Given the description of an element on the screen output the (x, y) to click on. 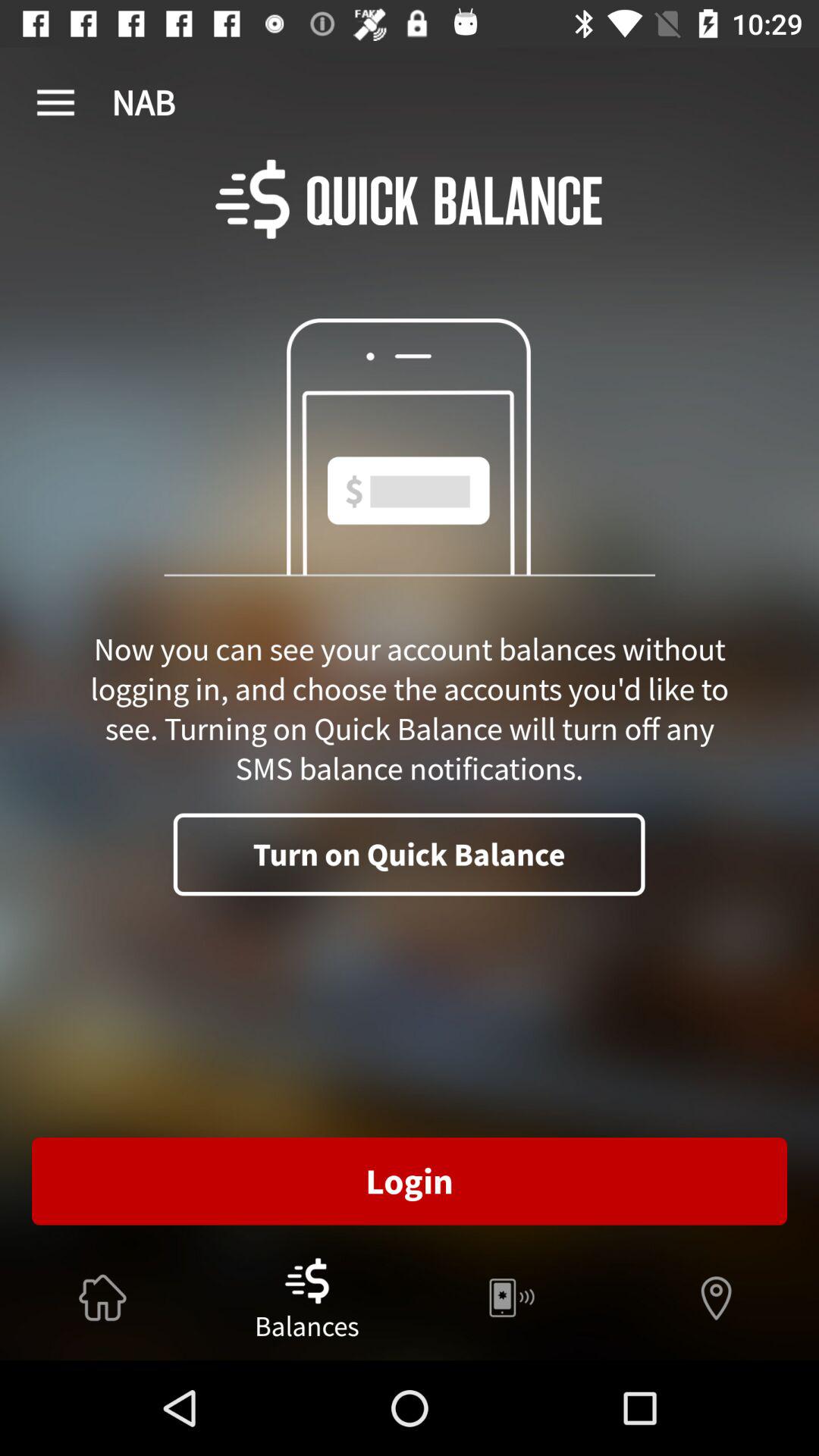
turn off login item (409, 1181)
